Given the description of an element on the screen output the (x, y) to click on. 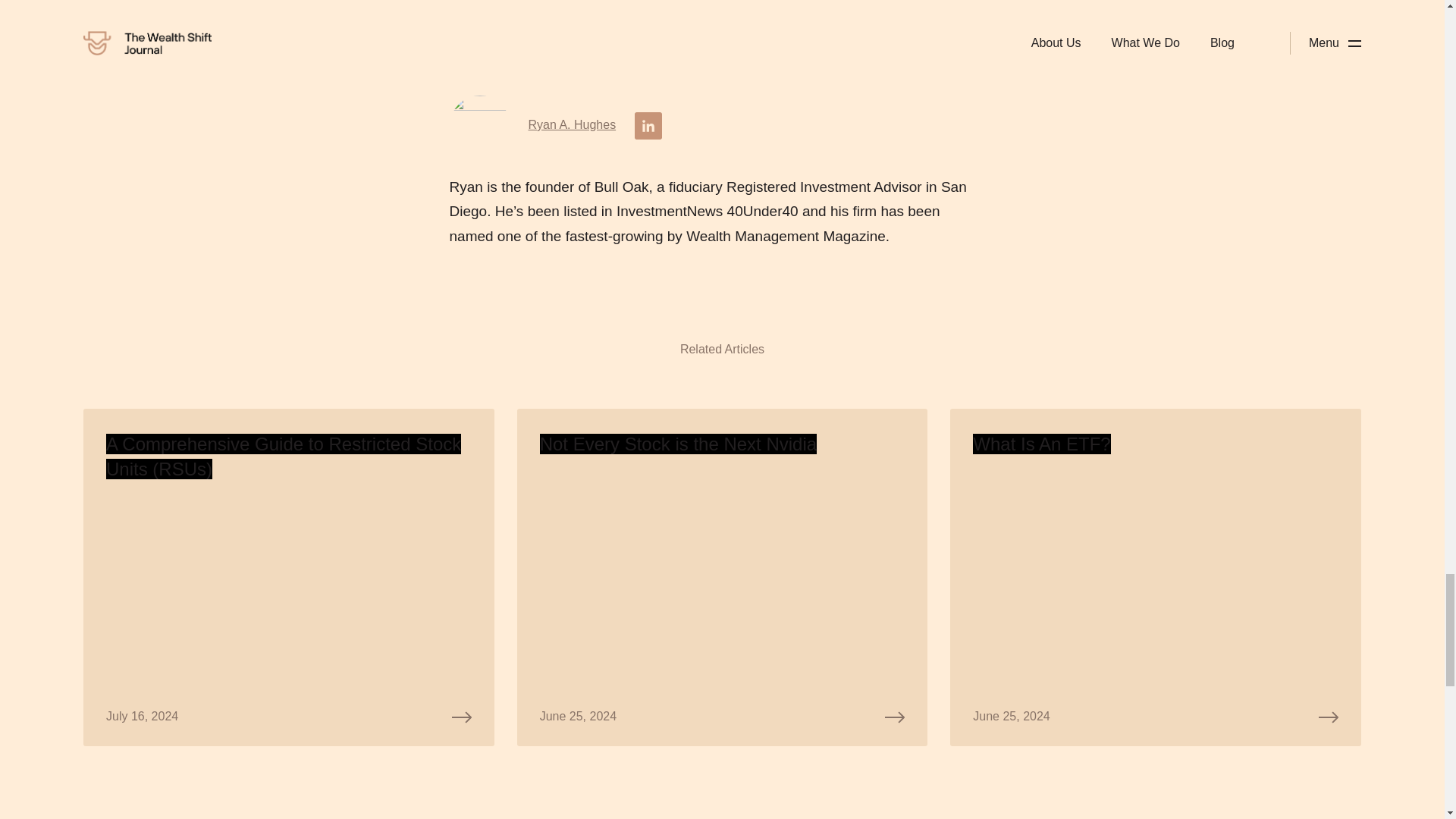
Ryan A. Hughes (571, 124)
